Given the description of an element on the screen output the (x, y) to click on. 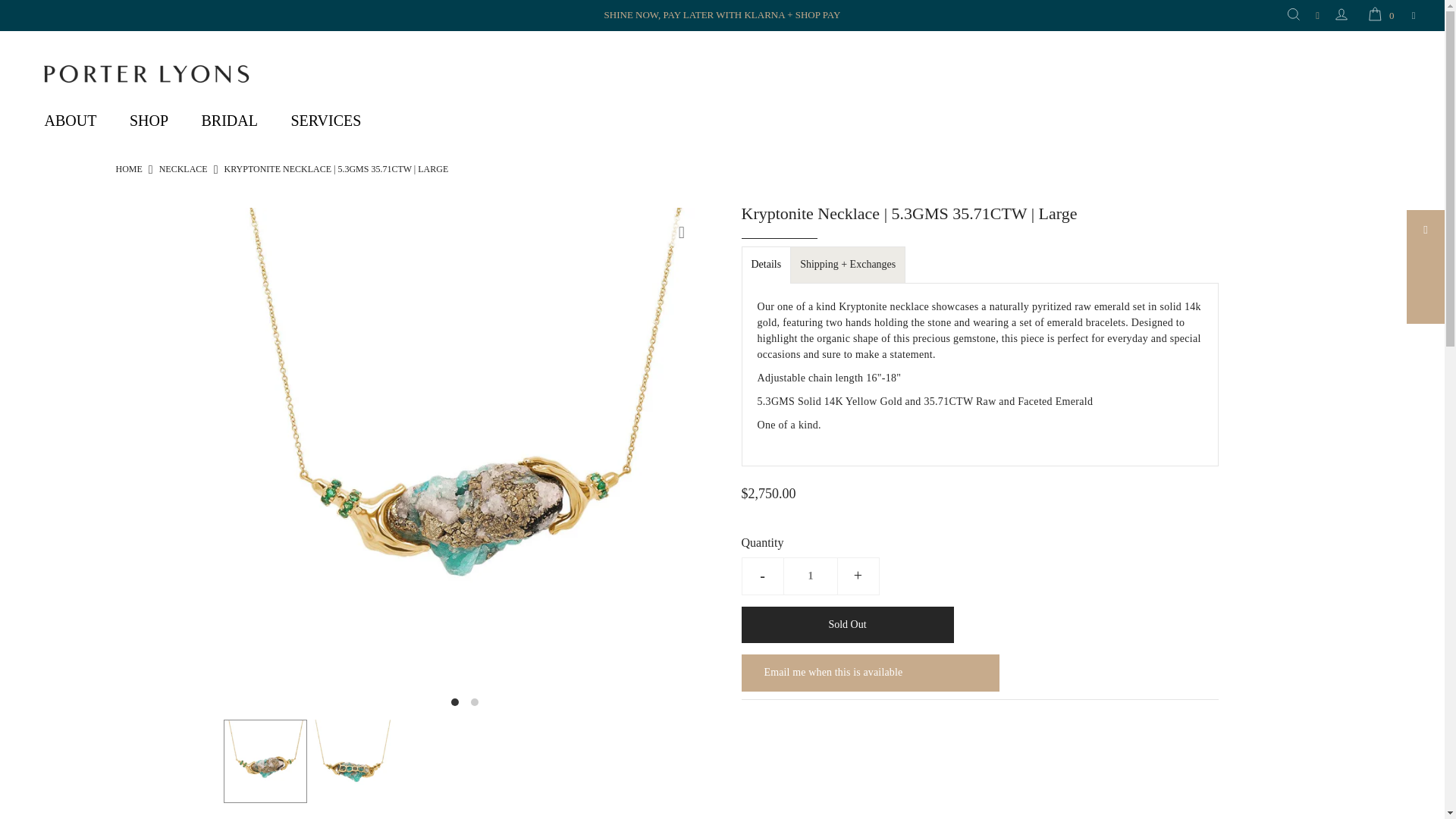
  0 (1378, 15)
Home (128, 168)
Necklace (183, 168)
SHOP (149, 120)
click to zoom-in (681, 231)
ABOUT (70, 120)
1 (810, 576)
Sold Out (847, 624)
BRIDAL (229, 120)
